Given the description of an element on the screen output the (x, y) to click on. 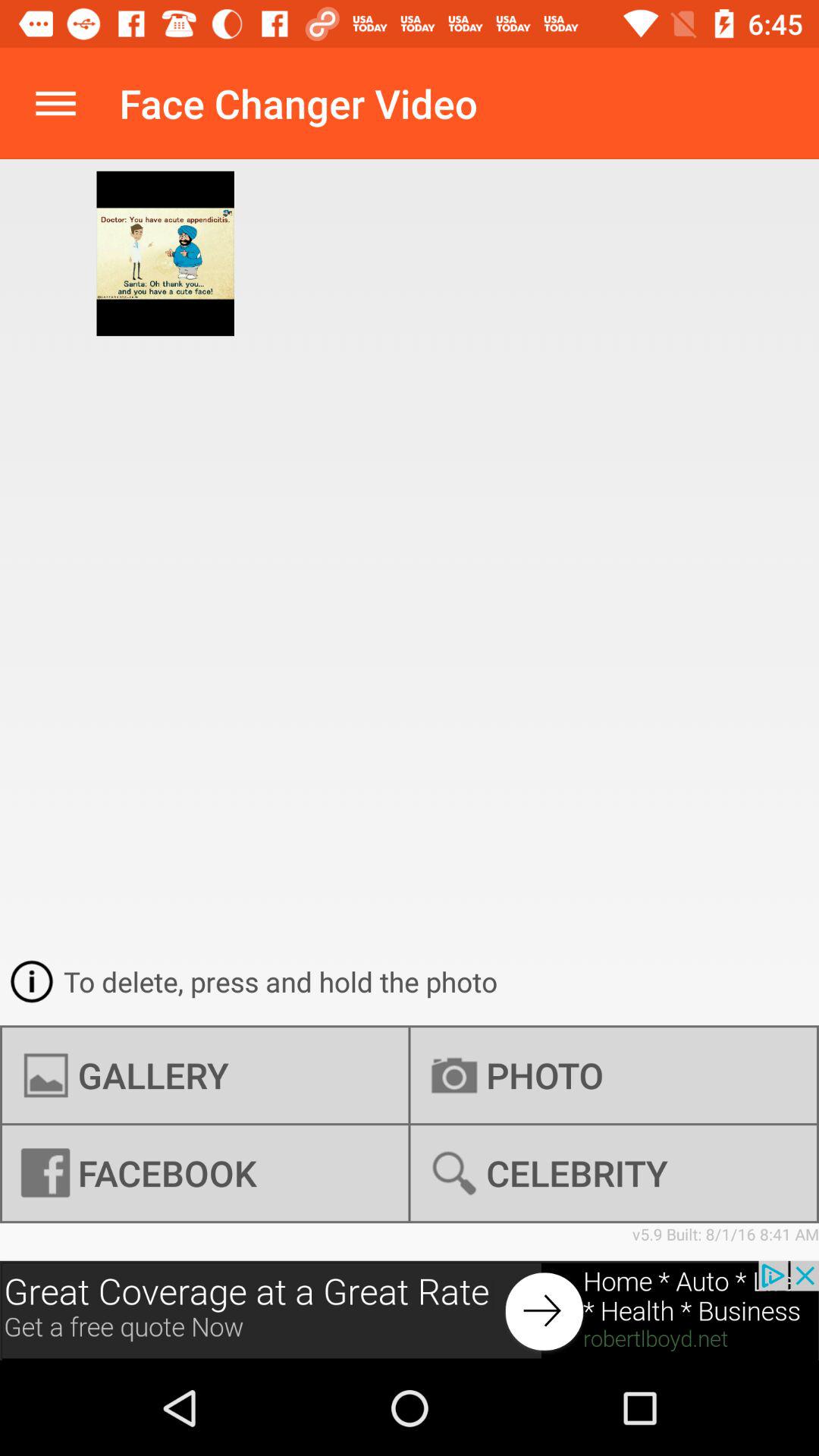
go to menu (55, 103)
